Given the description of an element on the screen output the (x, y) to click on. 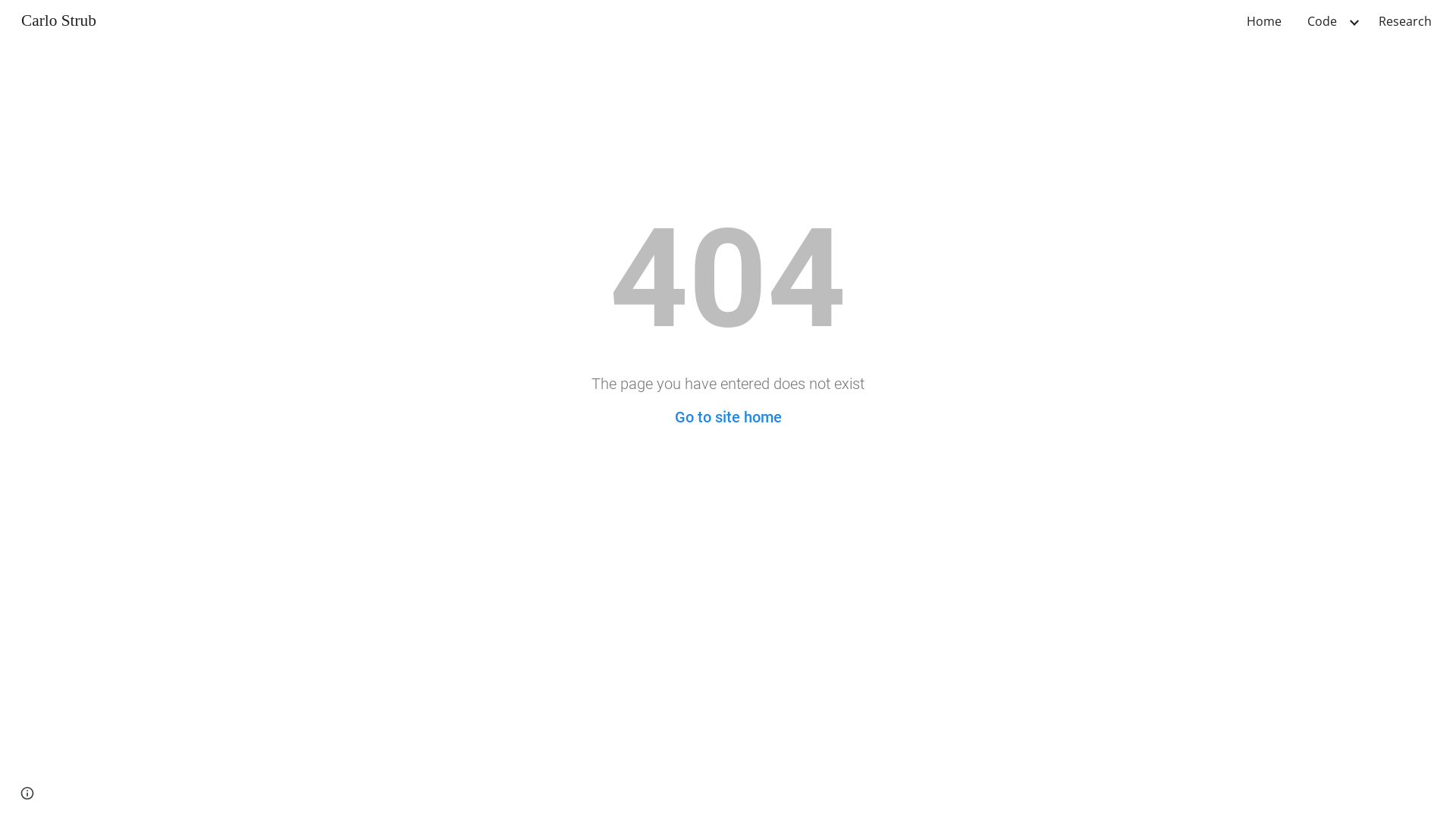
Expand/Collapse Element type: hover (1353, 20)
Go to site home Element type: text (727, 416)
Research Element type: text (1405, 20)
Code Element type: text (1321, 20)
Carlo Strub Element type: text (58, 19)
Home Element type: text (1264, 20)
